Given the description of an element on the screen output the (x, y) to click on. 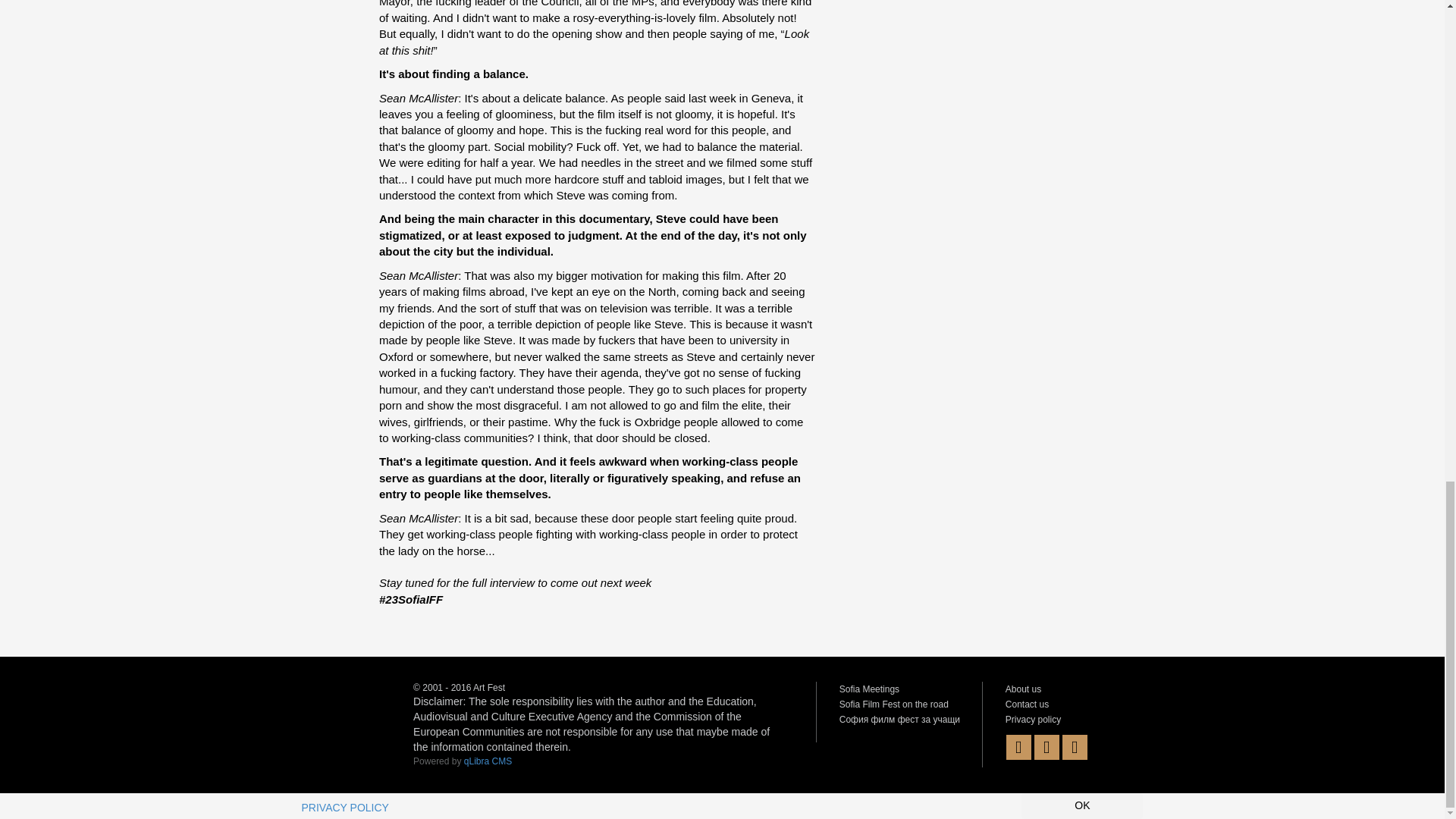
qLibra CMS (488, 760)
Sofia Film Fest on the road (894, 704)
Sofia Meetings (869, 688)
Privacy policy (1033, 719)
About us (1023, 688)
Contact us (1027, 704)
